Given the description of an element on the screen output the (x, y) to click on. 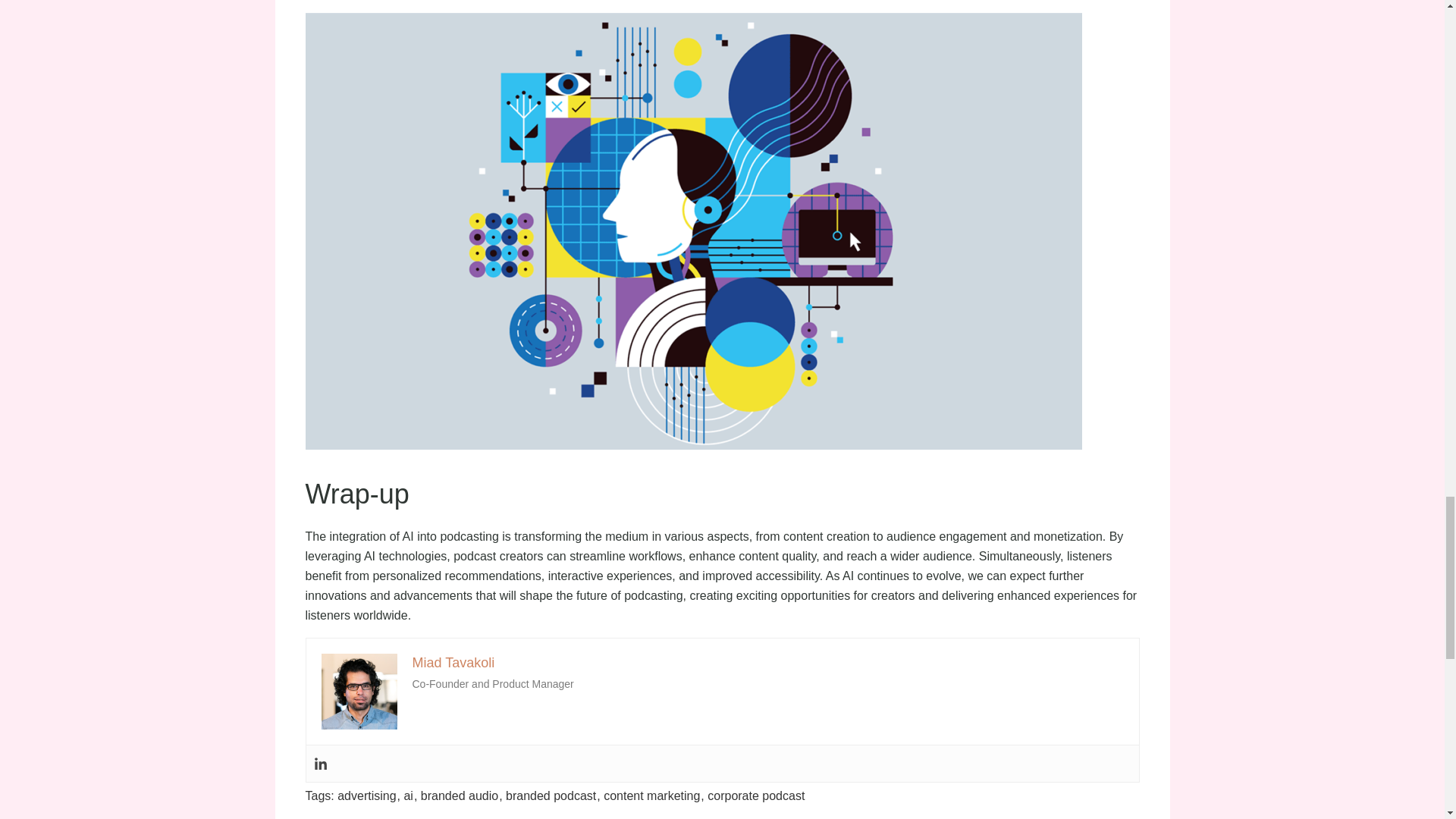
Miad Tavakoli (453, 662)
Linkedin (320, 763)
branded audio (461, 795)
corporate podcast (756, 795)
content marketing (654, 795)
ai (409, 795)
branded podcast (552, 795)
advertising (368, 795)
